Given the description of an element on the screen output the (x, y) to click on. 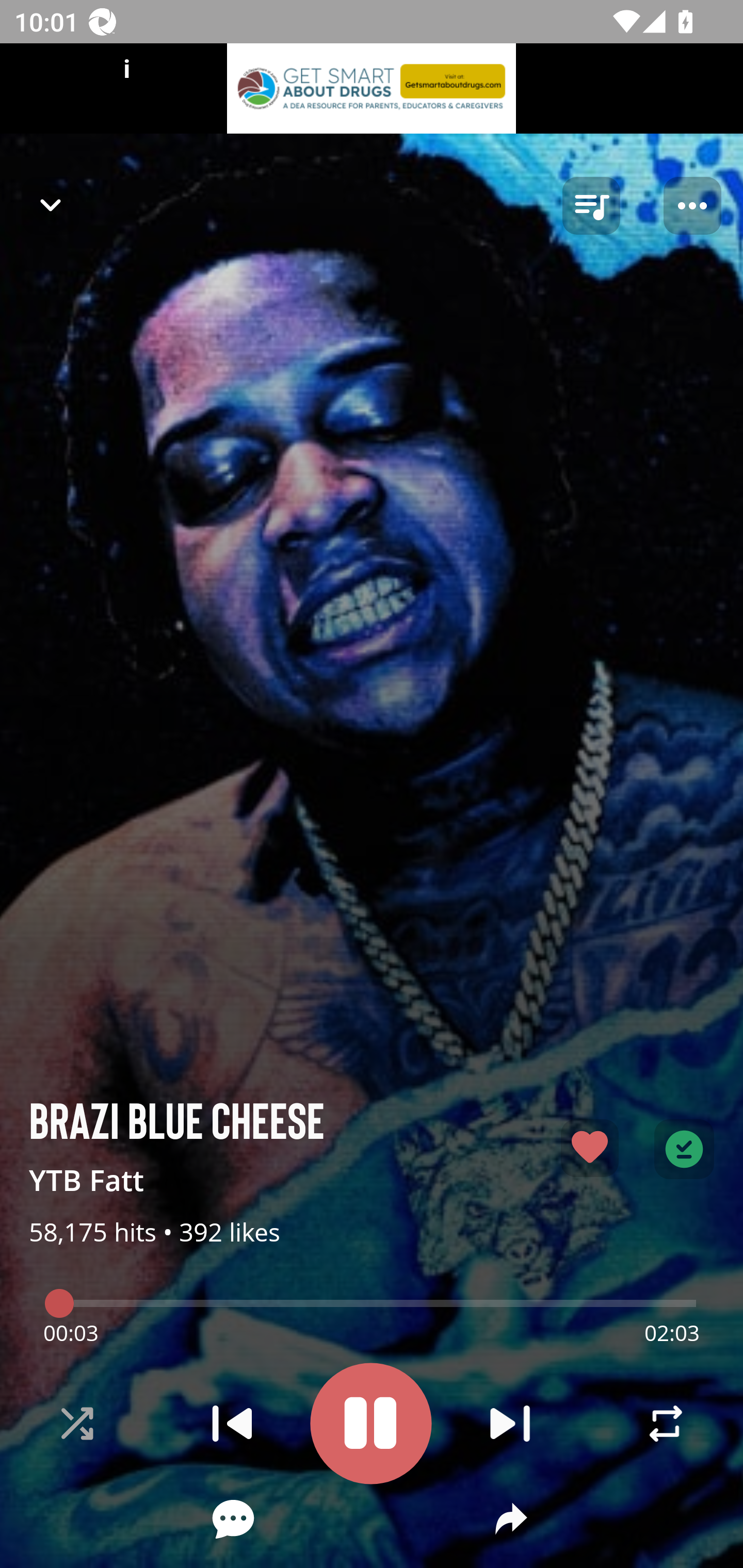
Navigate up (50, 205)
queue (590, 206)
Player options (692, 206)
